Given the description of an element on the screen output the (x, y) to click on. 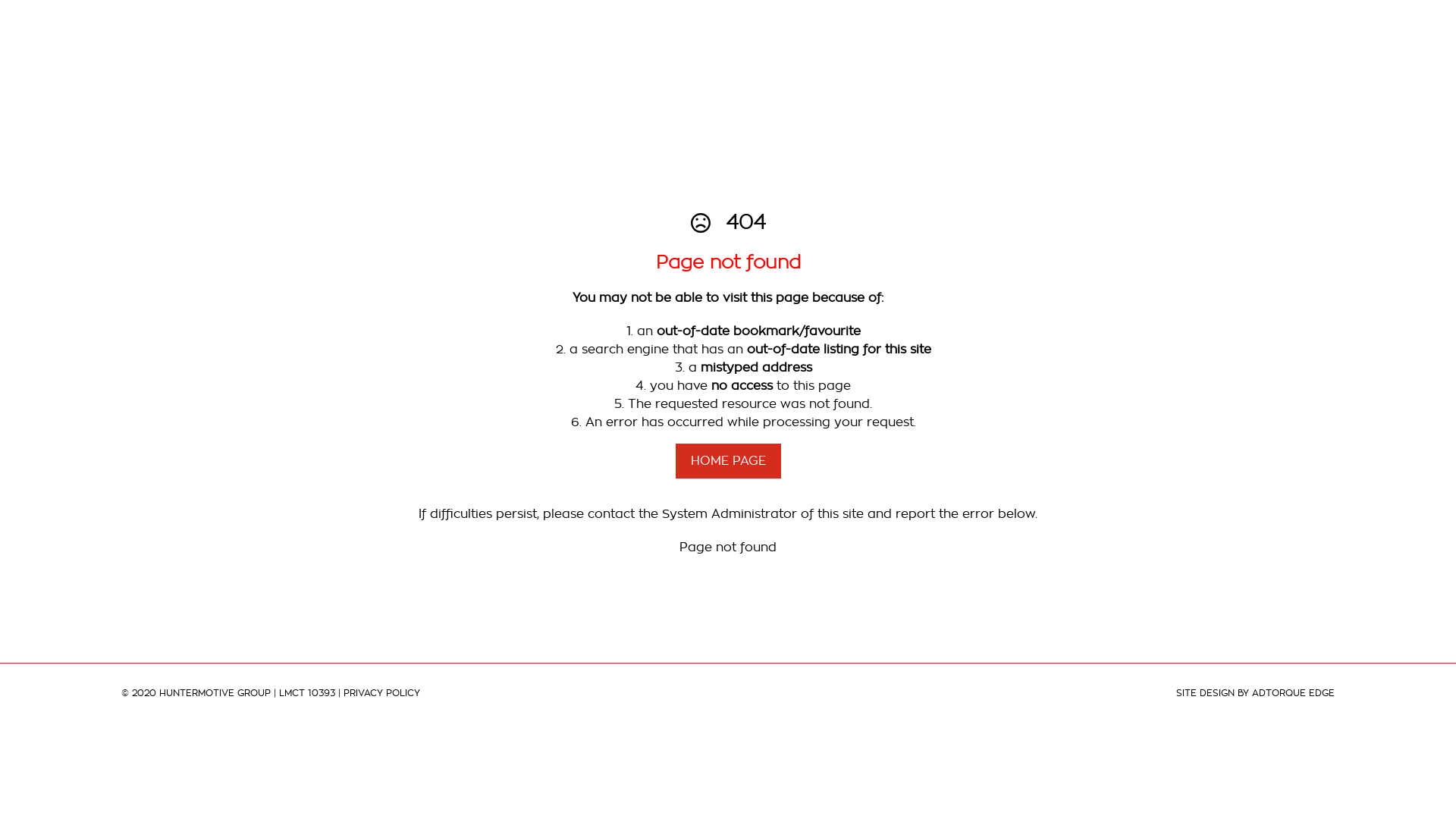
HOME PAGE Element type: text (727, 459)
PRIVACY POLICY Element type: text (381, 692)
SITE DESIGN BY ADTORQUE EDGE Element type: text (1255, 692)
